Given the description of an element on the screen output the (x, y) to click on. 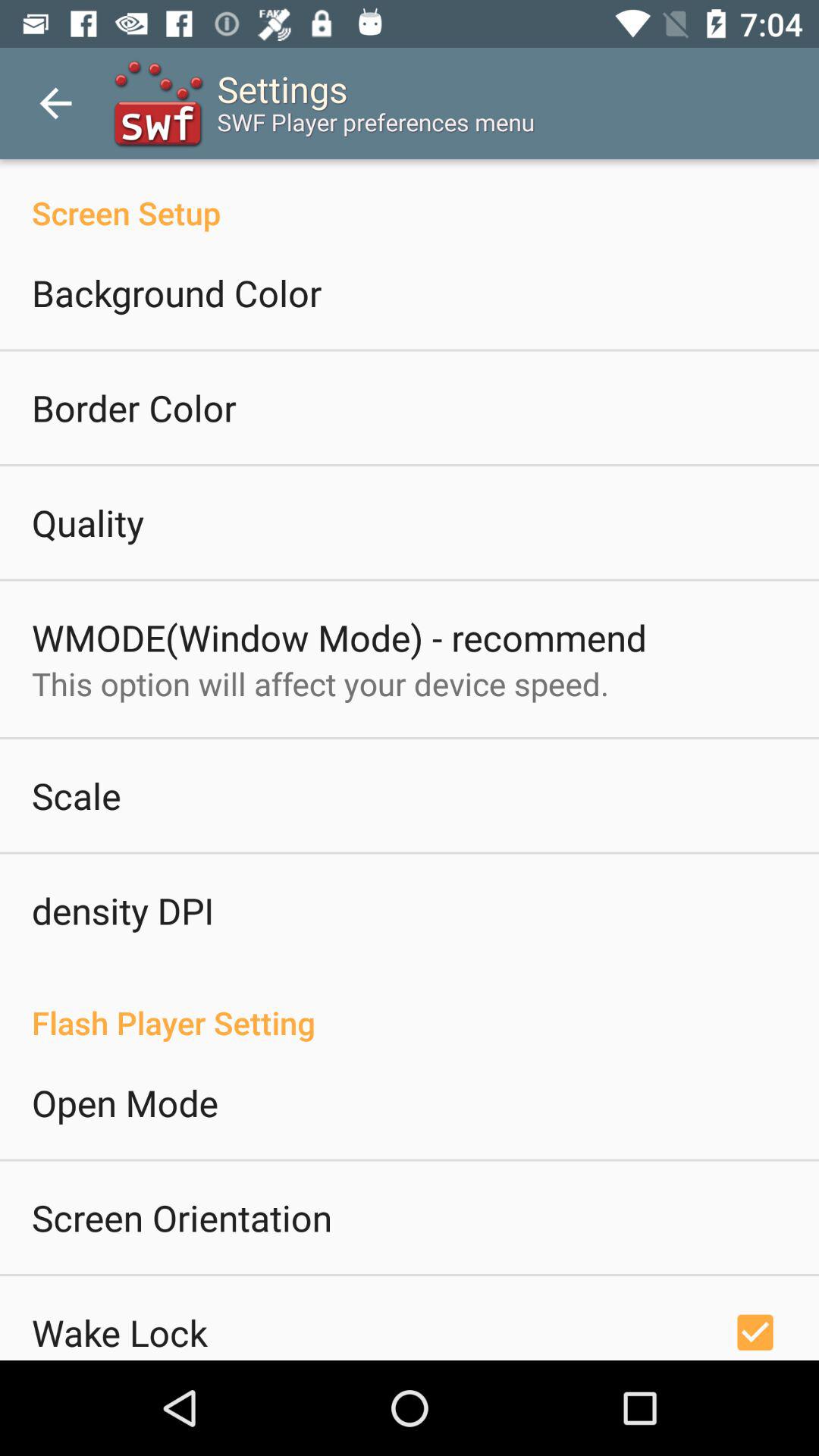
open the item above the wake lock item (181, 1217)
